Given the description of an element on the screen output the (x, y) to click on. 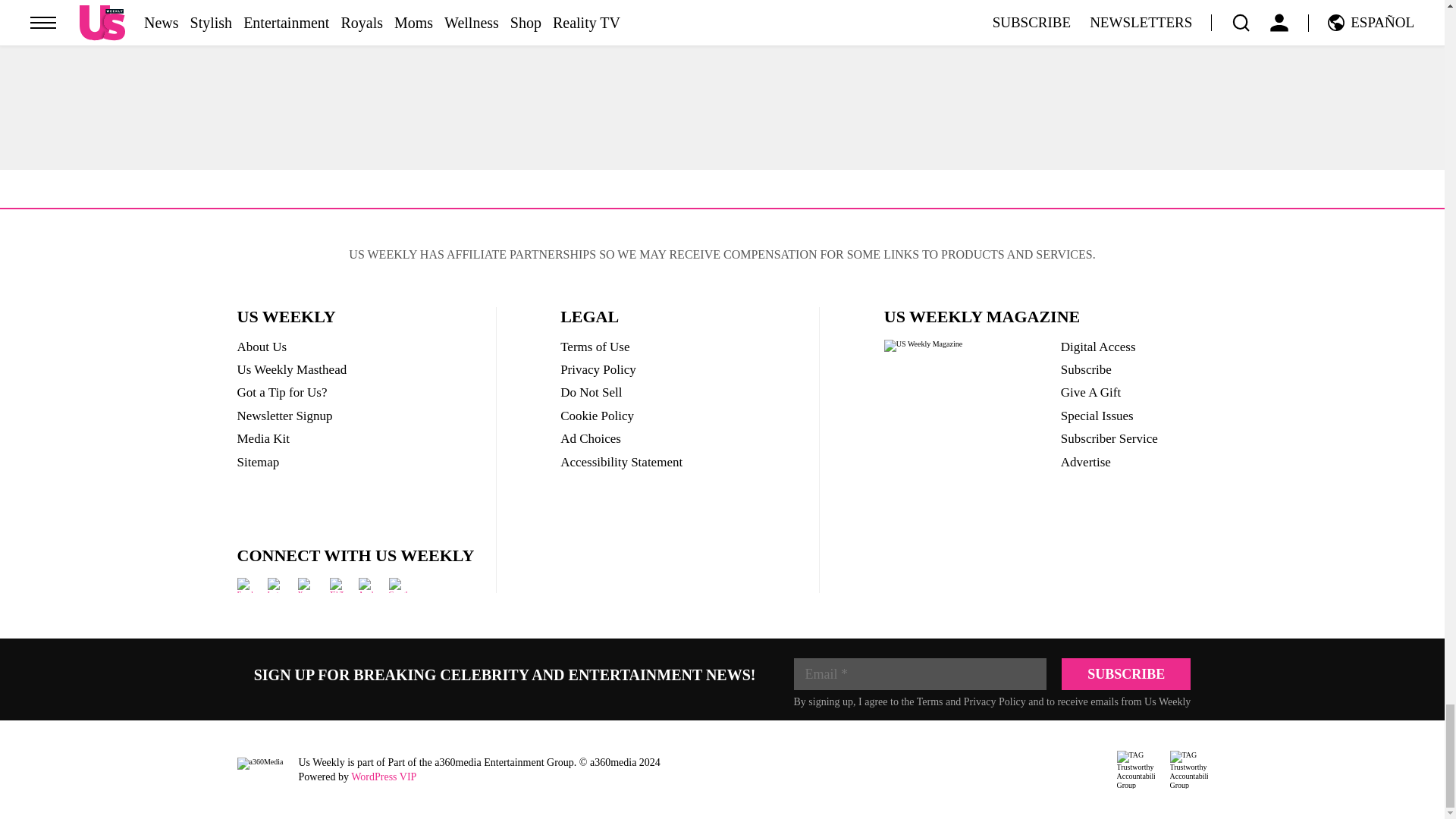
TAG Registered (1135, 769)
TAG Certified Against Fraud (1188, 769)
